Given the description of an element on the screen output the (x, y) to click on. 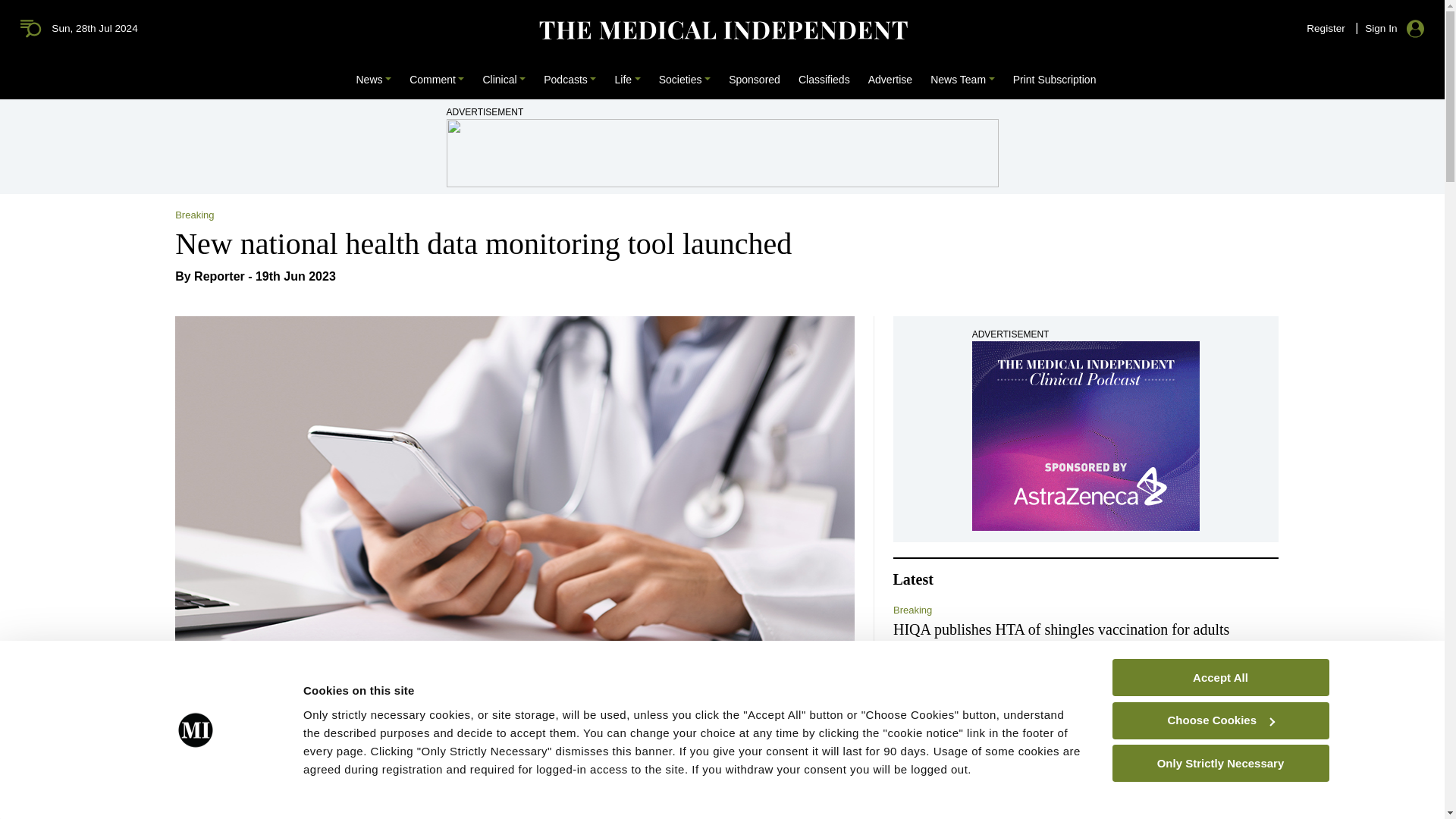
The Medical Independent (721, 30)
medical independent (34, 27)
